Given the description of an element on the screen output the (x, y) to click on. 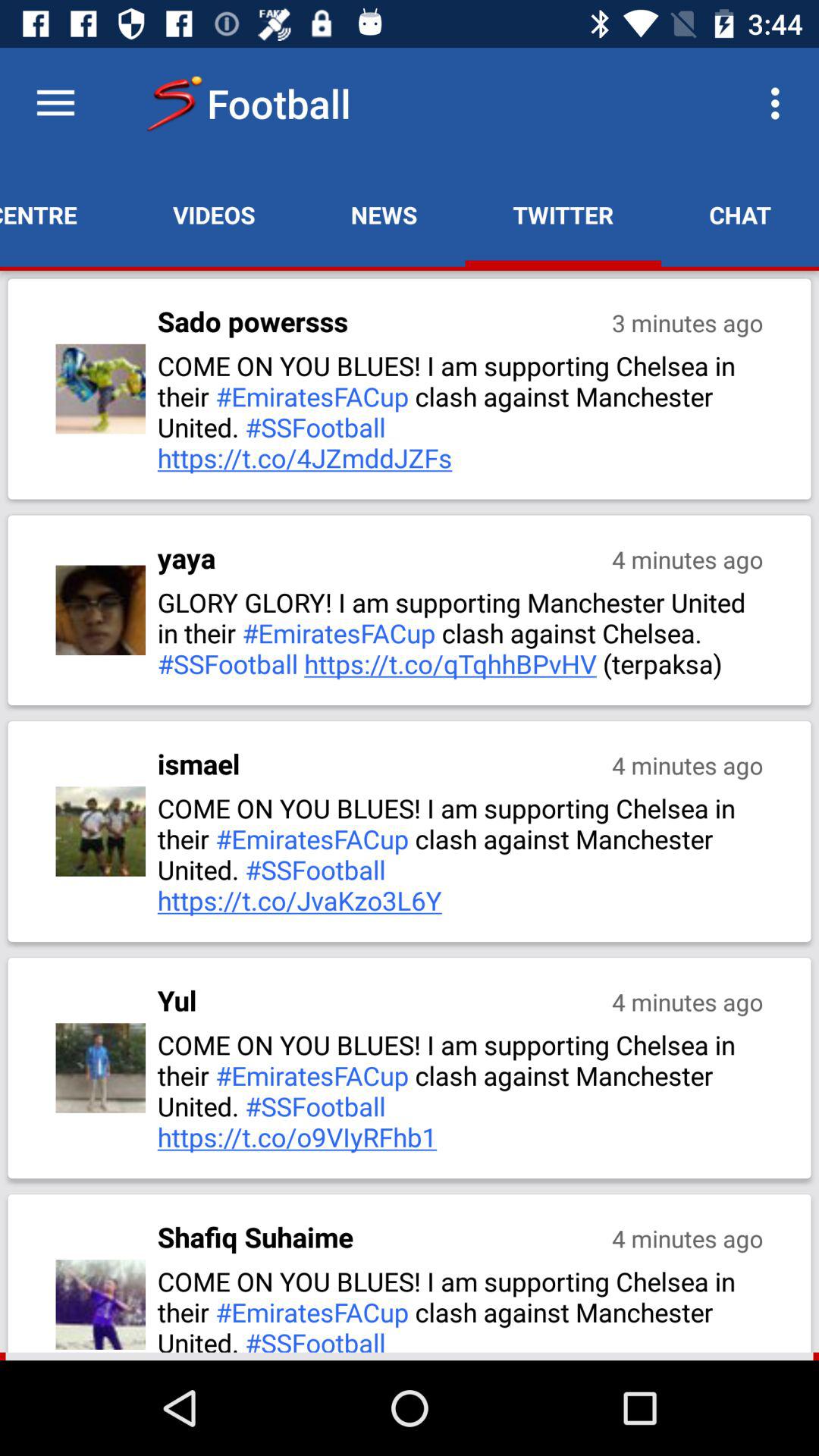
open the menu bar (55, 103)
